Given the description of an element on the screen output the (x, y) to click on. 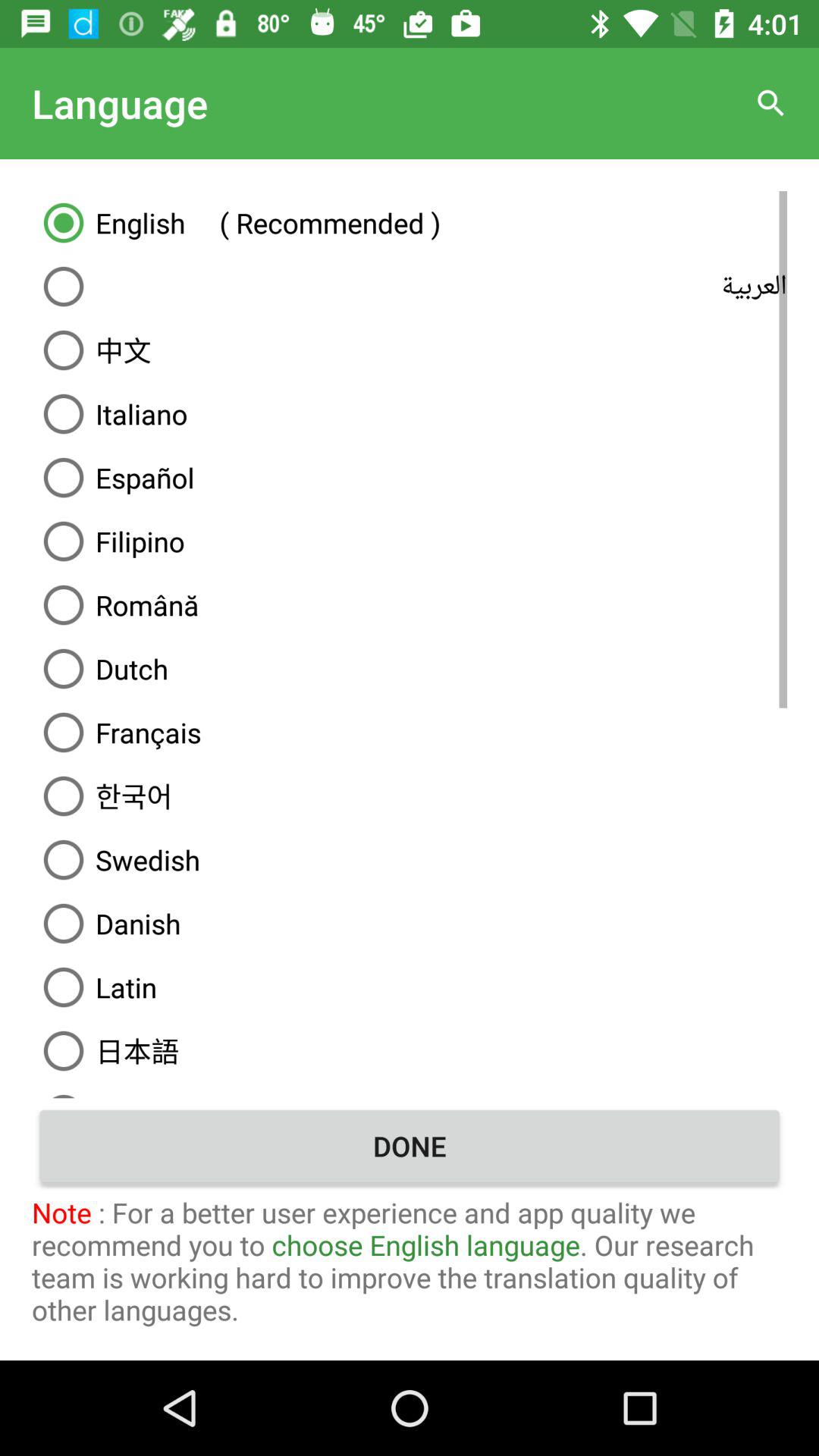
turn off the filipino (409, 541)
